Given the description of an element on the screen output the (x, y) to click on. 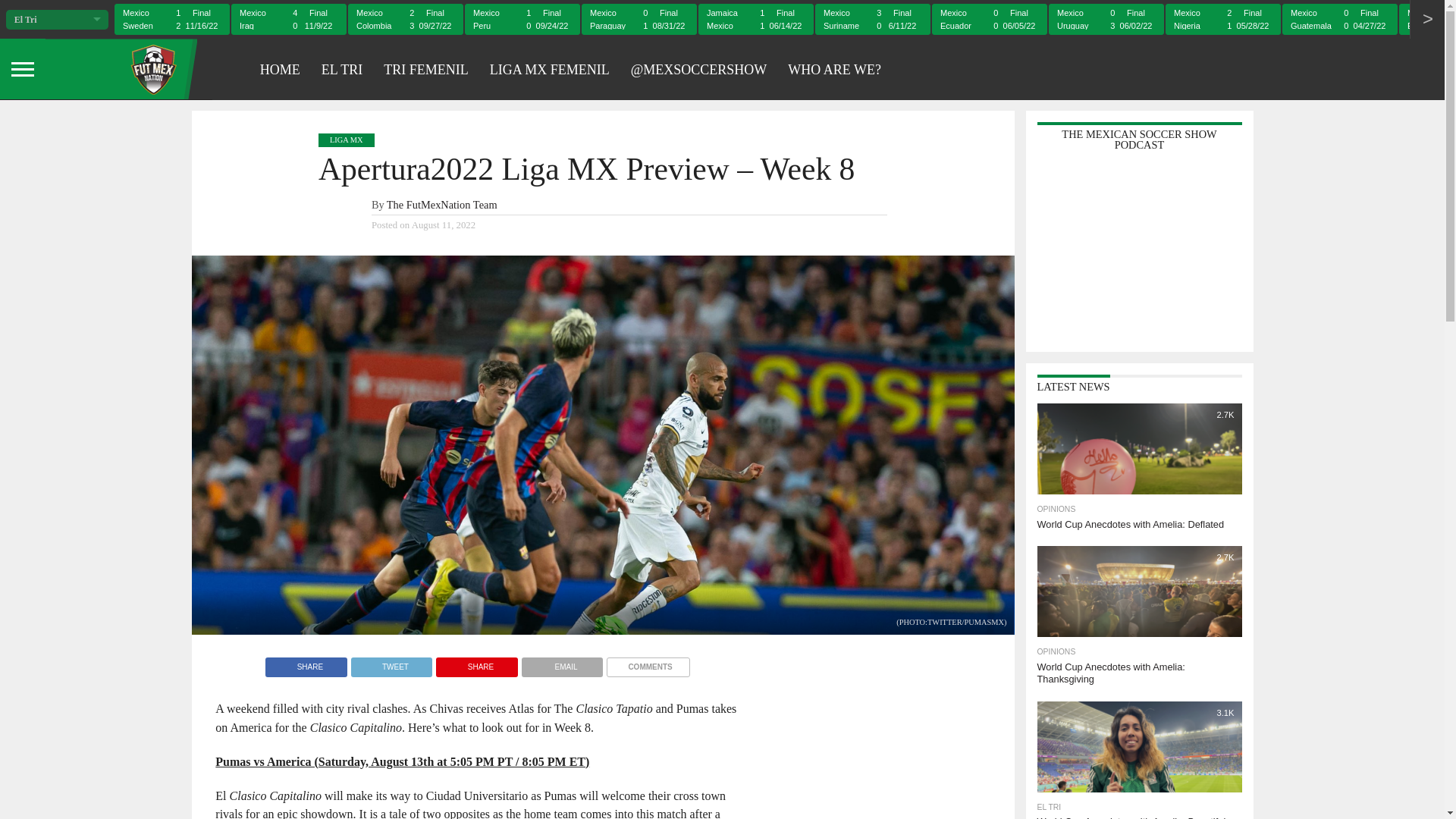
LIGA MX FEMENIL (549, 69)
Tweet This Post (391, 662)
Posts by The FutMexNation Team (442, 204)
TRI FEMENIL (425, 69)
Pin This Post (476, 662)
Share on Facebook (305, 662)
EL TRI (342, 69)
WHO ARE WE? (834, 69)
HOME (279, 69)
